Given the description of an element on the screen output the (x, y) to click on. 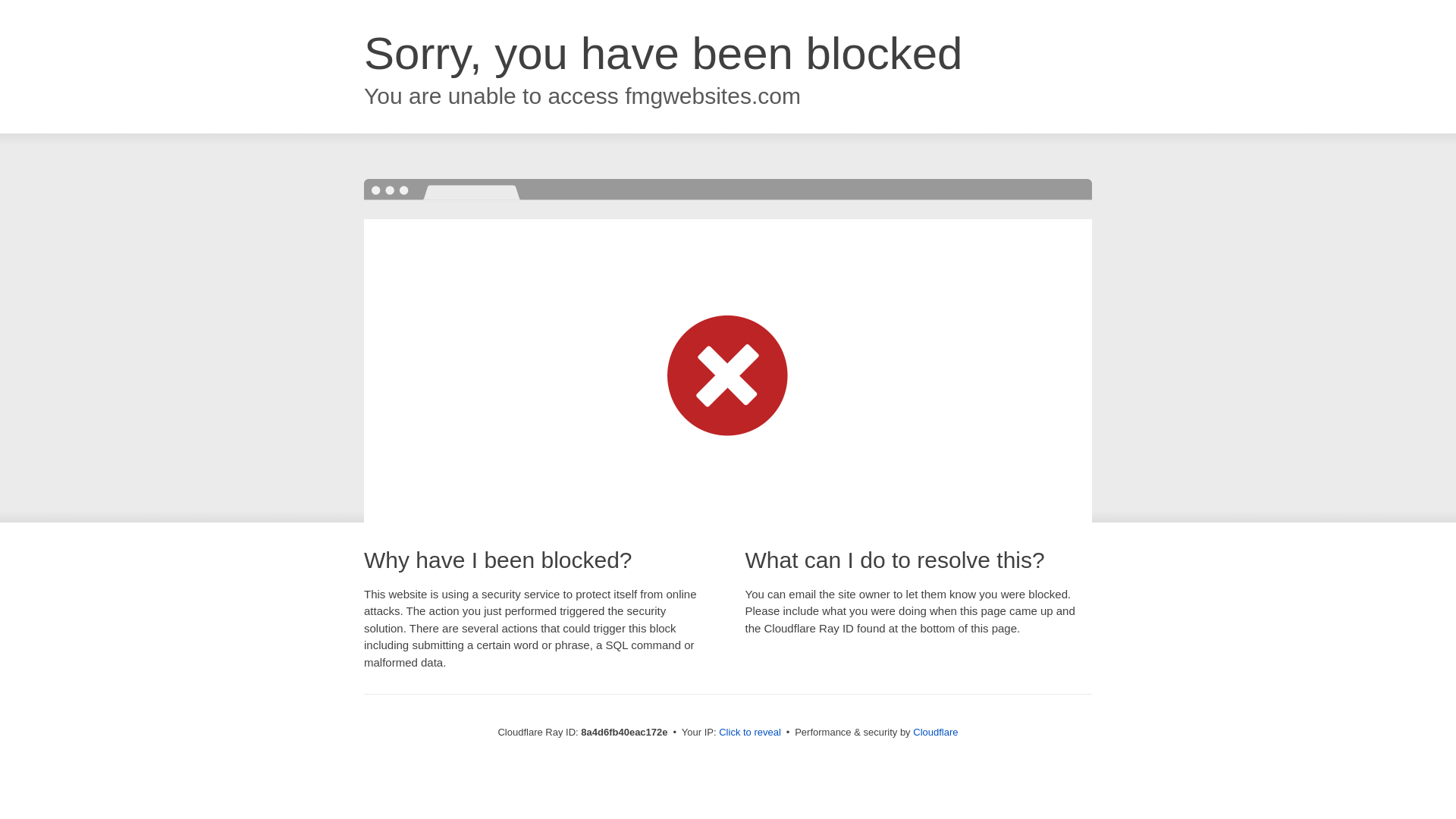
Cloudflare (935, 731)
Click to reveal (749, 732)
